Given the description of an element on the screen output the (x, y) to click on. 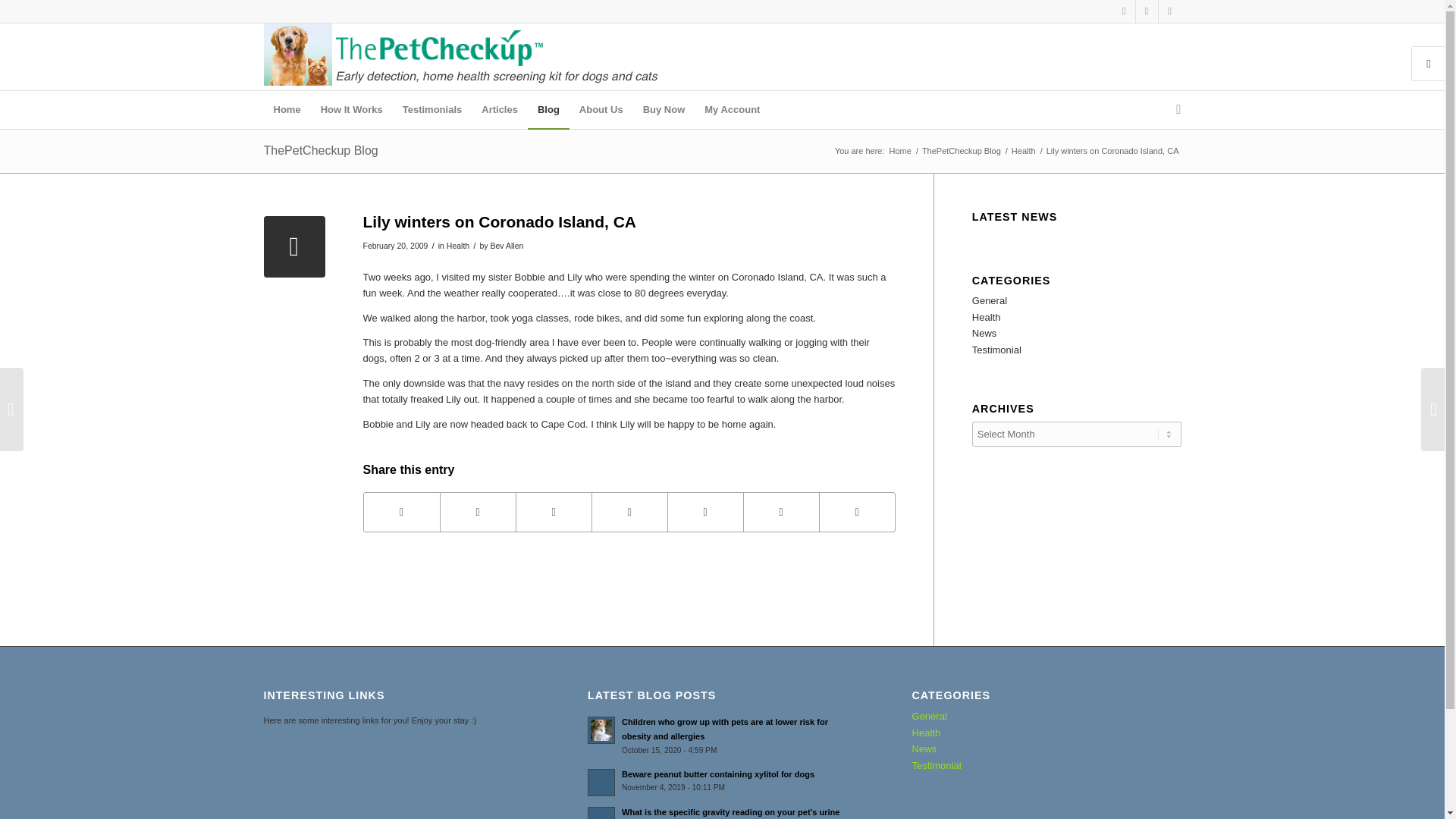
My Account (732, 109)
ThePetCheckup Blog (961, 151)
About Us (601, 109)
How It Works (352, 109)
ThePetCheckup (900, 151)
Buy Now (664, 109)
Blog (548, 109)
Home (900, 151)
Testimonials (432, 109)
ThePetCheckup Blog (320, 150)
Health (457, 245)
Permanent Link: ThePetCheckup Blog (320, 150)
Articles (499, 109)
Twitter (1146, 11)
ThePetCheckup Blog (961, 151)
